Given the description of an element on the screen output the (x, y) to click on. 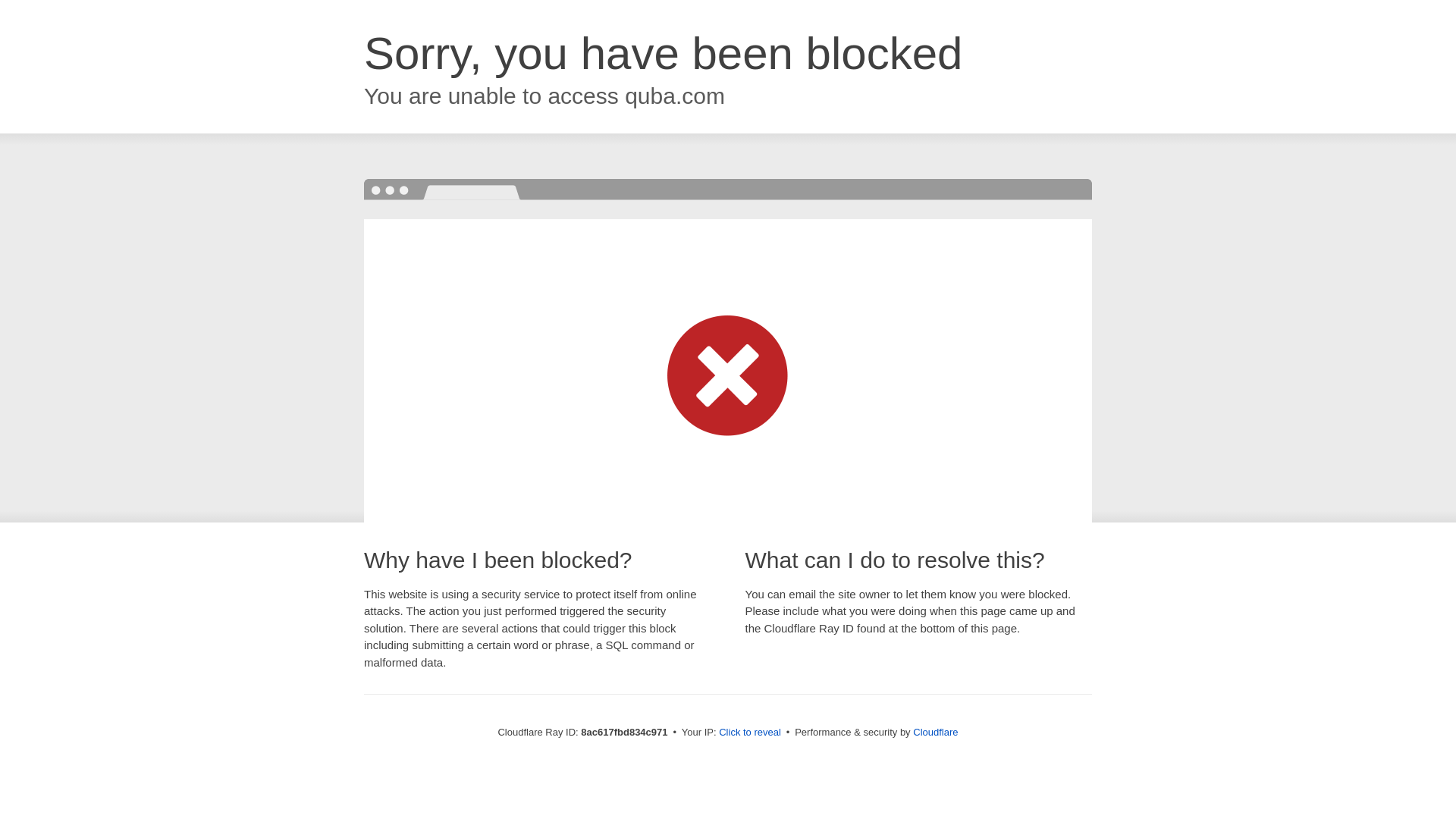
Click to reveal (749, 732)
Cloudflare (935, 731)
